Given the description of an element on the screen output the (x, y) to click on. 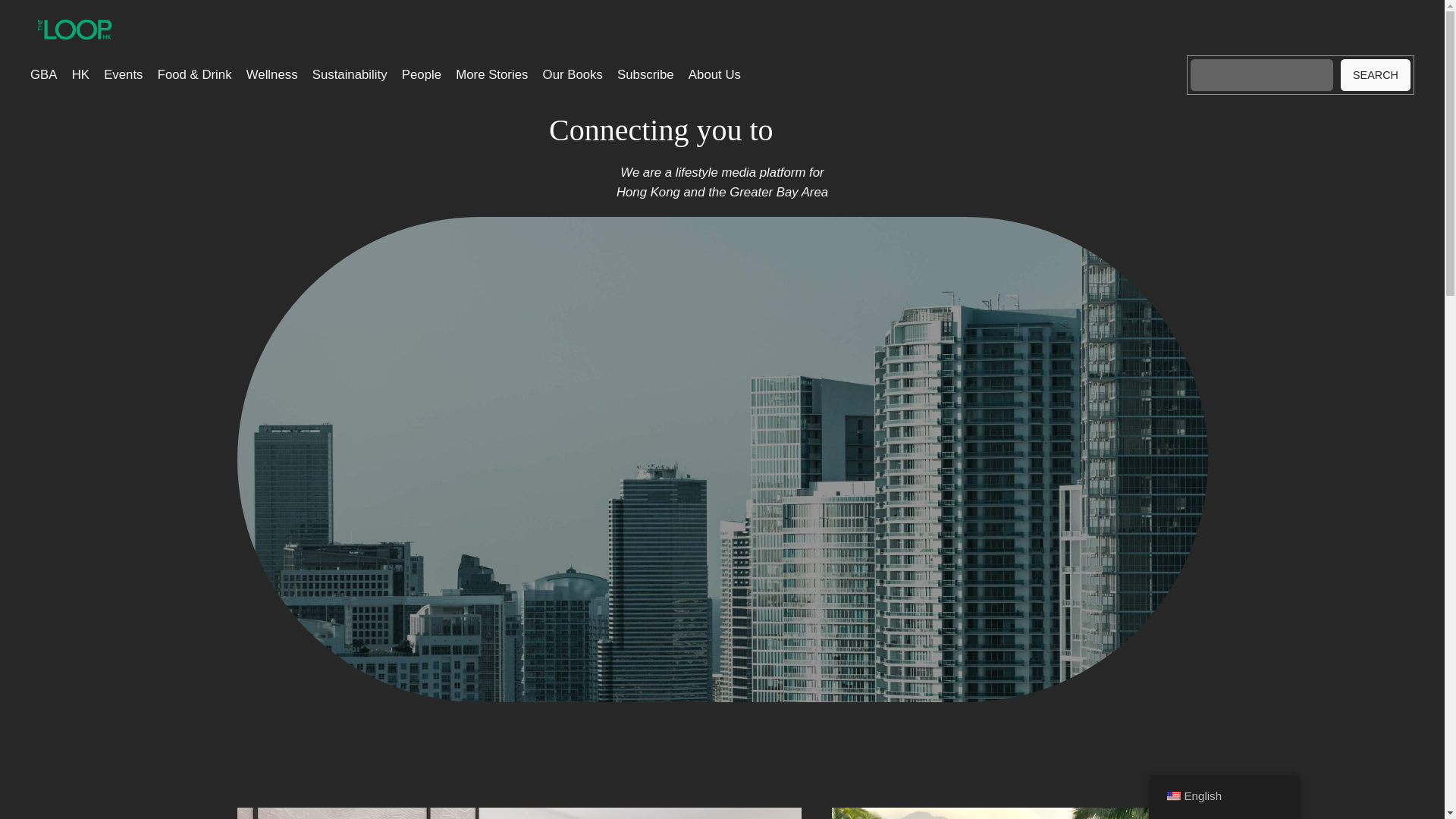
About Us (714, 75)
SEARCH (1375, 74)
Wellness (272, 75)
English (1172, 795)
People (421, 75)
Events (122, 75)
Sustainability (350, 75)
Subscribe (645, 75)
More Stories (491, 75)
GBA (43, 75)
Our Books (572, 75)
